Given the description of an element on the screen output the (x, y) to click on. 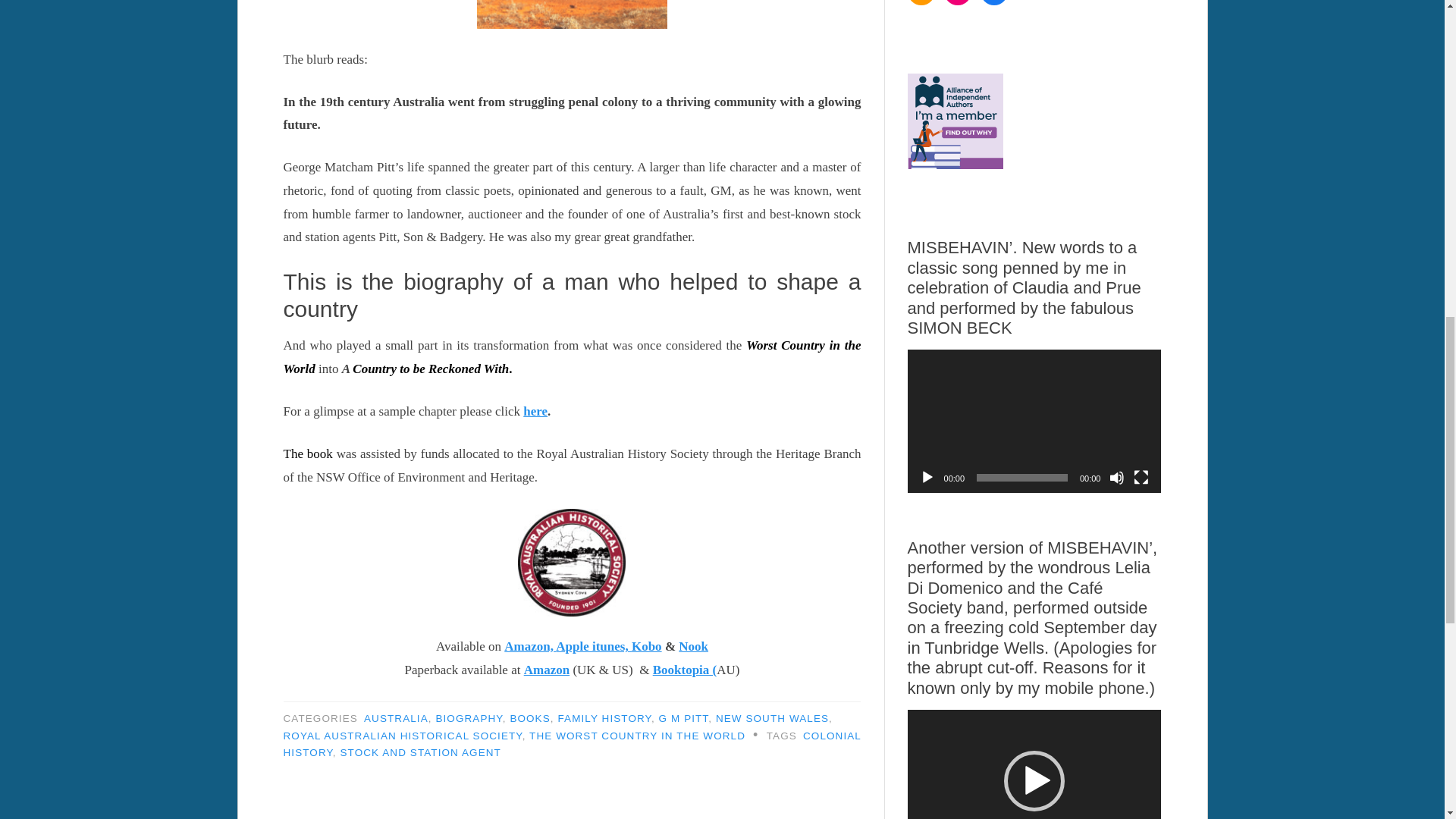
Play (927, 477)
Mute (1116, 477)
Amazon,  (529, 646)
AUSTRALIA (396, 717)
Nook (692, 646)
here (534, 411)
Kobo (646, 646)
BIOGRAPHY (468, 717)
Apple itunes, (593, 646)
Fullscreen (1141, 477)
Amazon (546, 669)
